Given the description of an element on the screen output the (x, y) to click on. 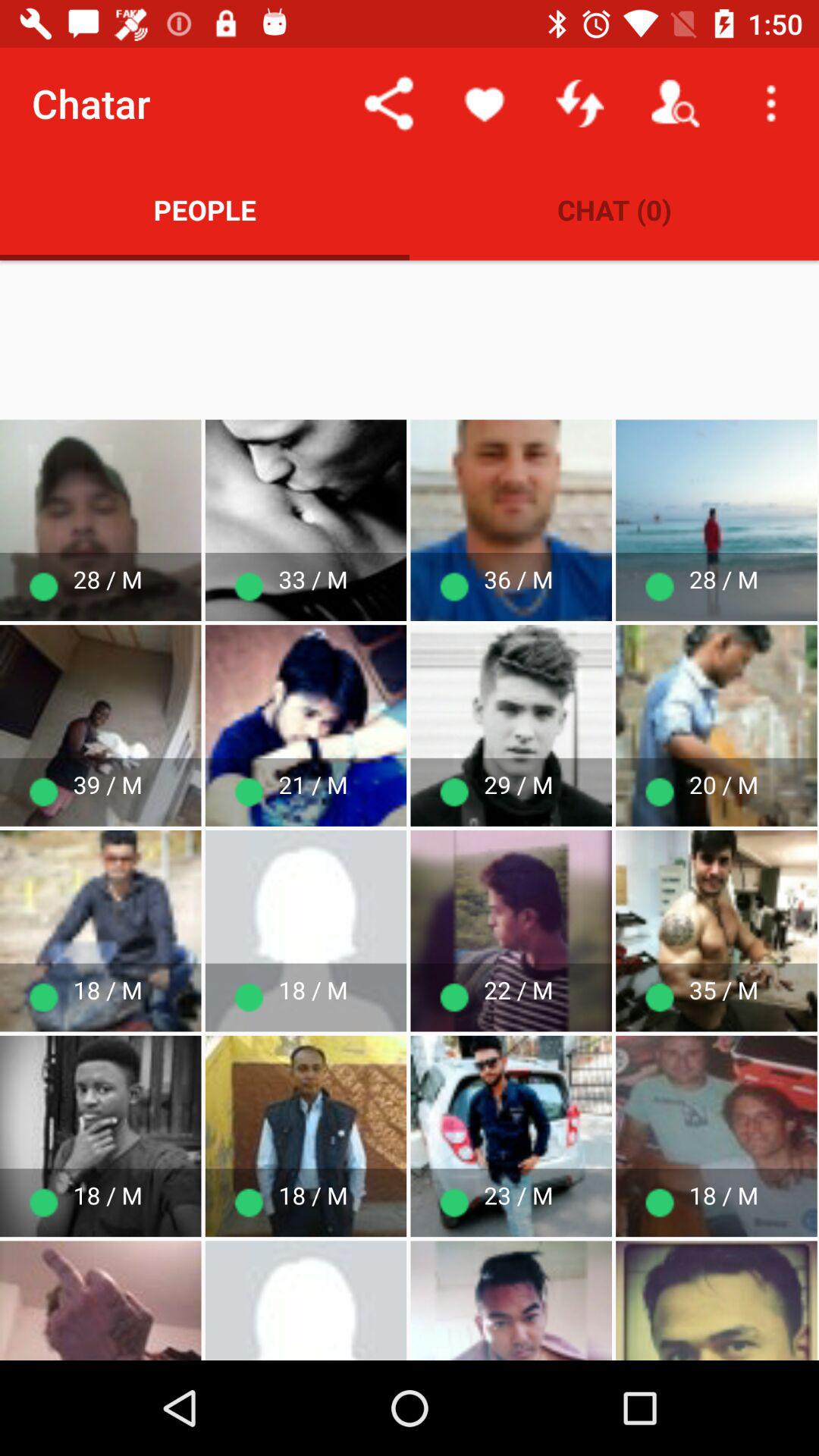
tap the app above the chat (0) (579, 103)
